Given the description of an element on the screen output the (x, y) to click on. 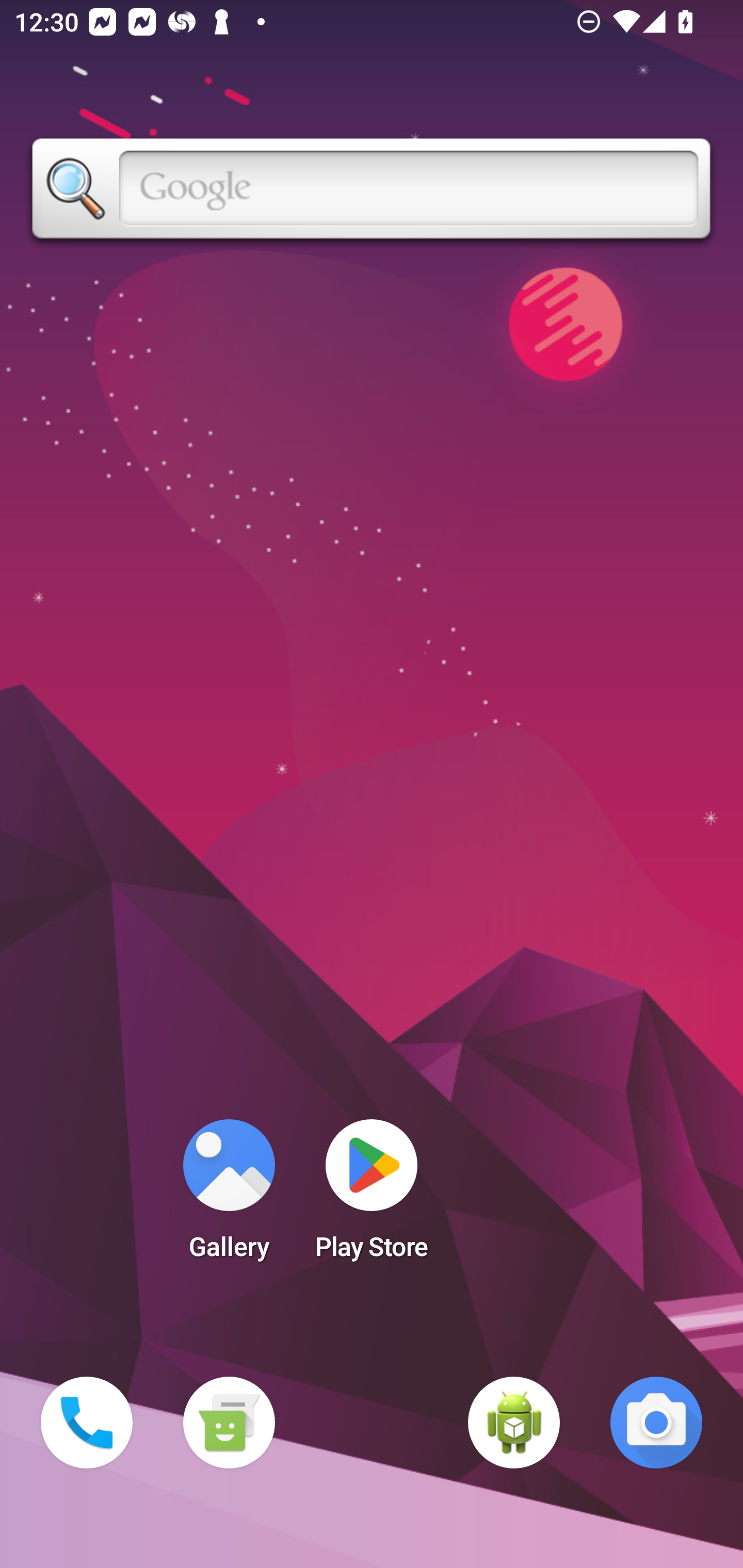
Gallery (228, 1195)
Play Store (371, 1195)
Phone (86, 1422)
Messaging (228, 1422)
WebView Browser Tester (513, 1422)
Camera (656, 1422)
